Given the description of an element on the screen output the (x, y) to click on. 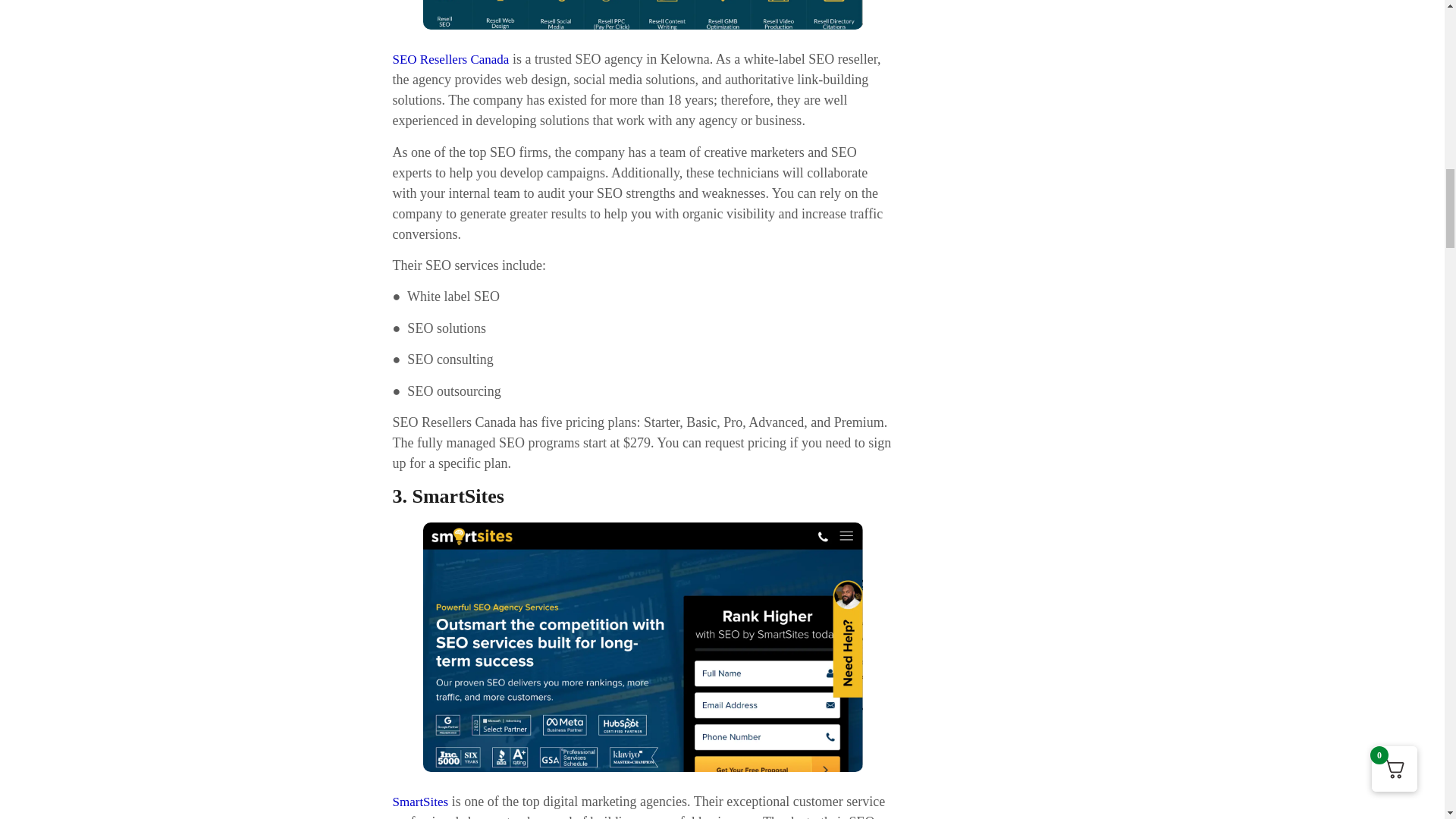
Best SEO Agencies in Kelowna 3 (643, 646)
Best SEO Agencies in Kelowna 2 (643, 15)
